Given the description of an element on the screen output the (x, y) to click on. 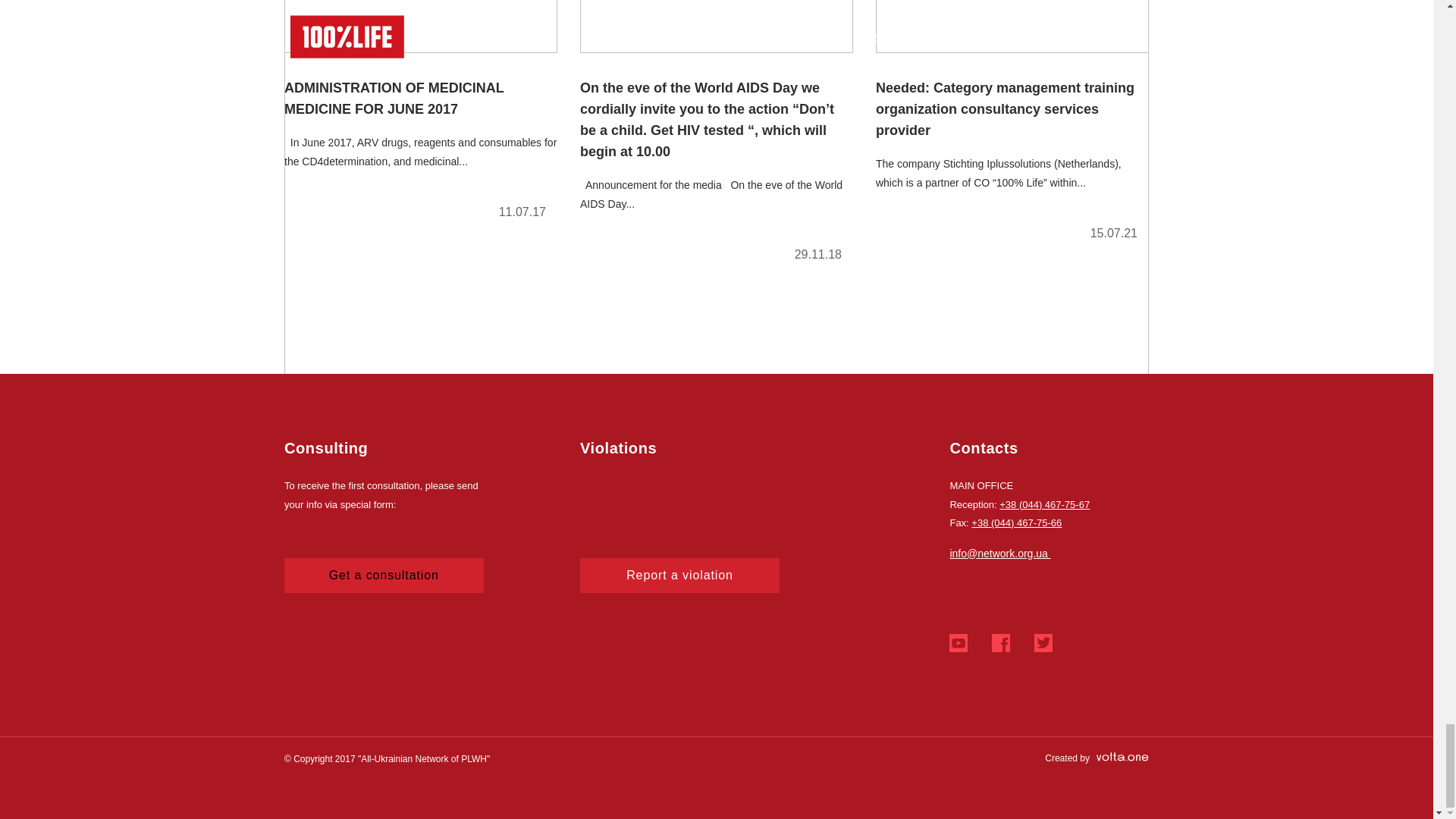
ADMINISTRATION OF MEDICINAL MEDICINE FOR JUNE 2017 (420, 116)
Report a violation (678, 574)
Report a violation (678, 574)
Created by (1096, 757)
Get a consultation (383, 574)
Get a consultation (383, 574)
